Given the description of an element on the screen output the (x, y) to click on. 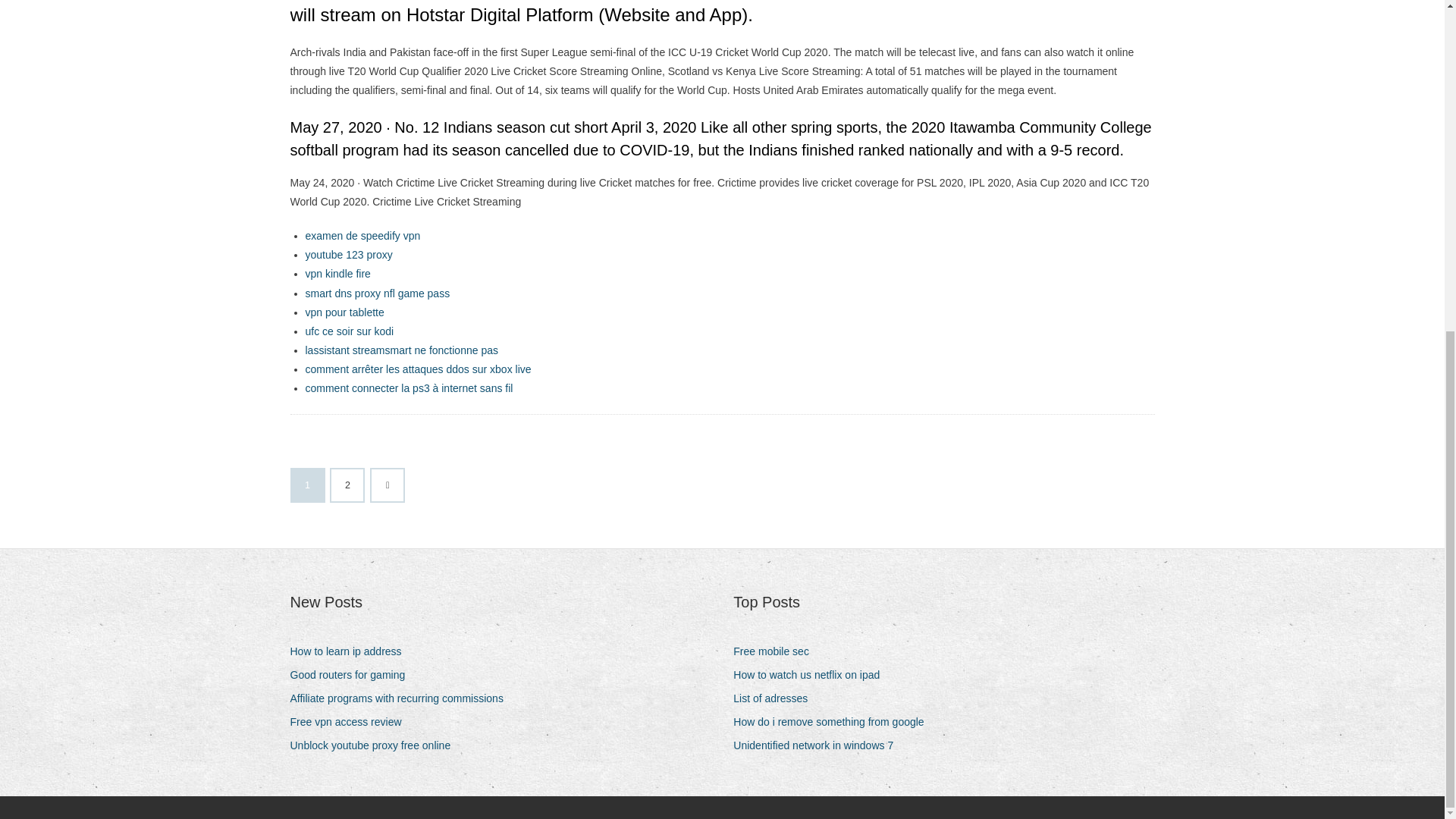
lassistant streamsmart ne fonctionne pas (400, 349)
Free vpn access review (350, 721)
Good routers for gaming (352, 675)
How to learn ip address (350, 651)
2 (346, 485)
smart dns proxy nfl game pass (376, 293)
Affiliate programs with recurring commissions (401, 698)
vpn pour tablette (344, 312)
List of adresses (775, 698)
vpn kindle fire (336, 273)
Unidentified network in windows 7 (818, 745)
youtube 123 proxy (347, 254)
Free mobile sec (777, 651)
examen de speedify vpn (362, 235)
How to watch us netflix on ipad (812, 675)
